Given the description of an element on the screen output the (x, y) to click on. 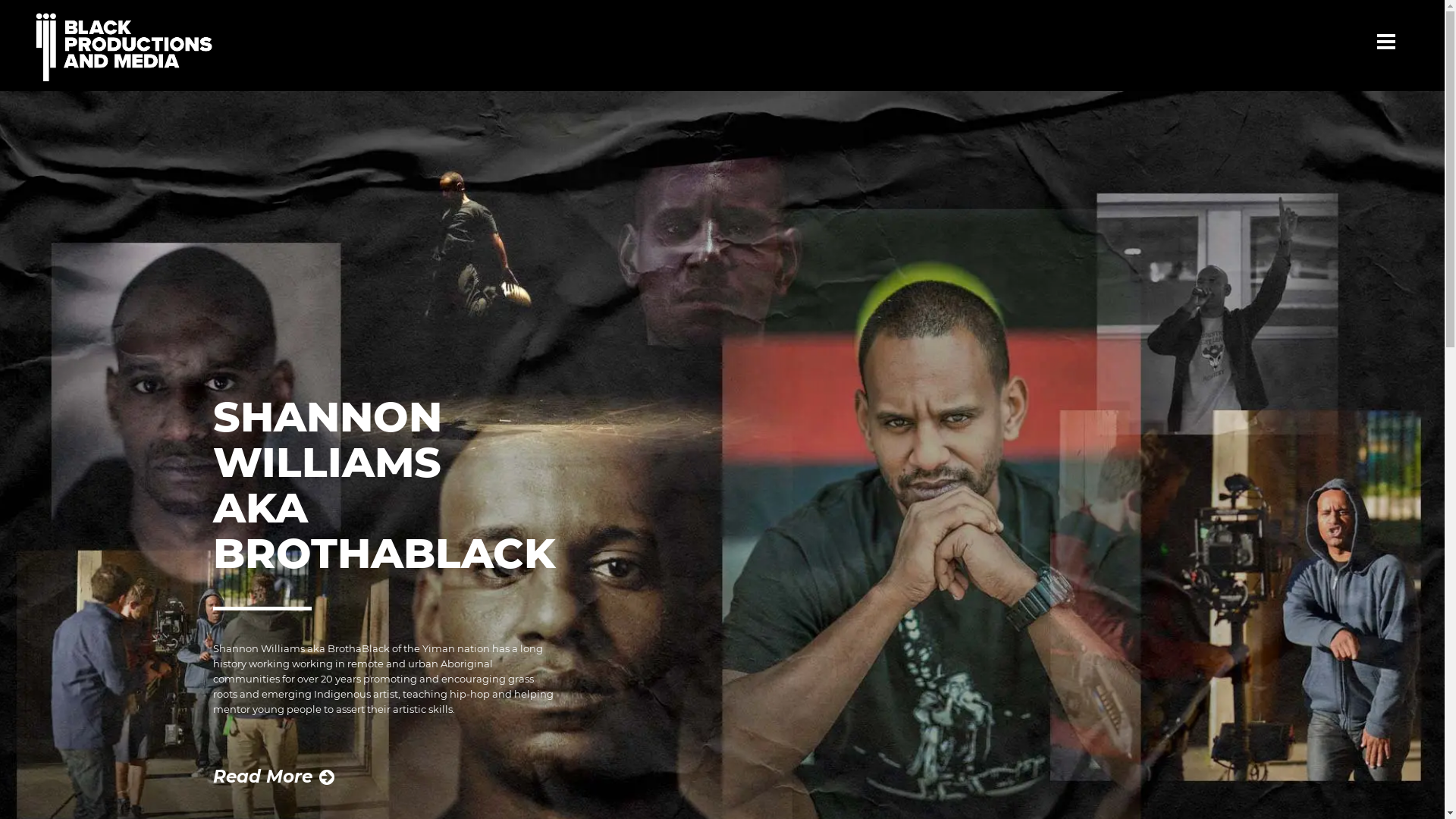
Read More Element type: text (273, 777)
  Element type: text (1390, 36)
